Given the description of an element on the screen output the (x, y) to click on. 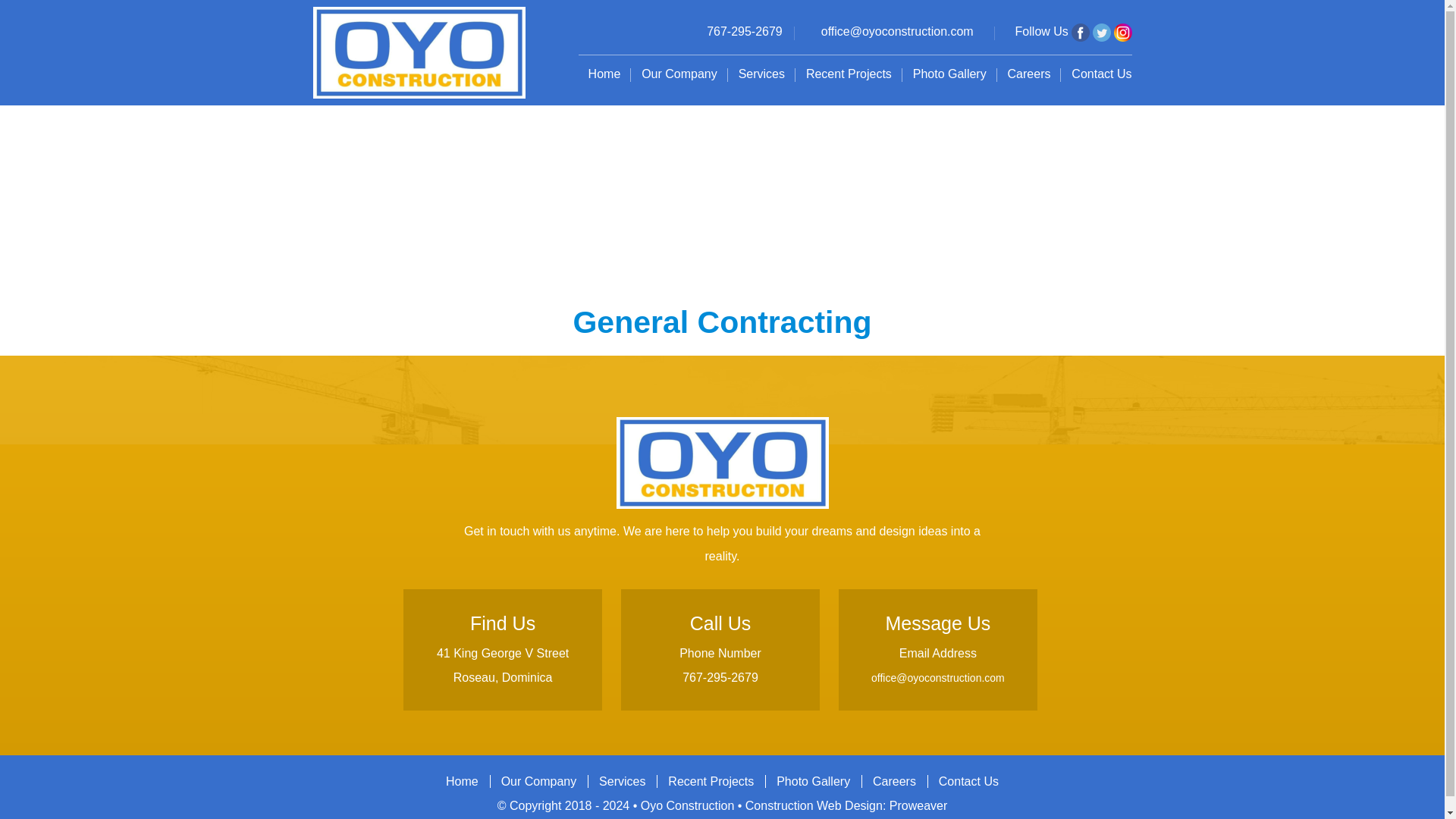
Construction Web Design (813, 805)
Recent Projects (848, 74)
Proweaver (918, 805)
Our Company (539, 772)
Services (761, 74)
Photo Gallery (949, 74)
Our Company (679, 74)
Services (622, 772)
Careers (894, 772)
Recent Projects (710, 772)
